Given the description of an element on the screen output the (x, y) to click on. 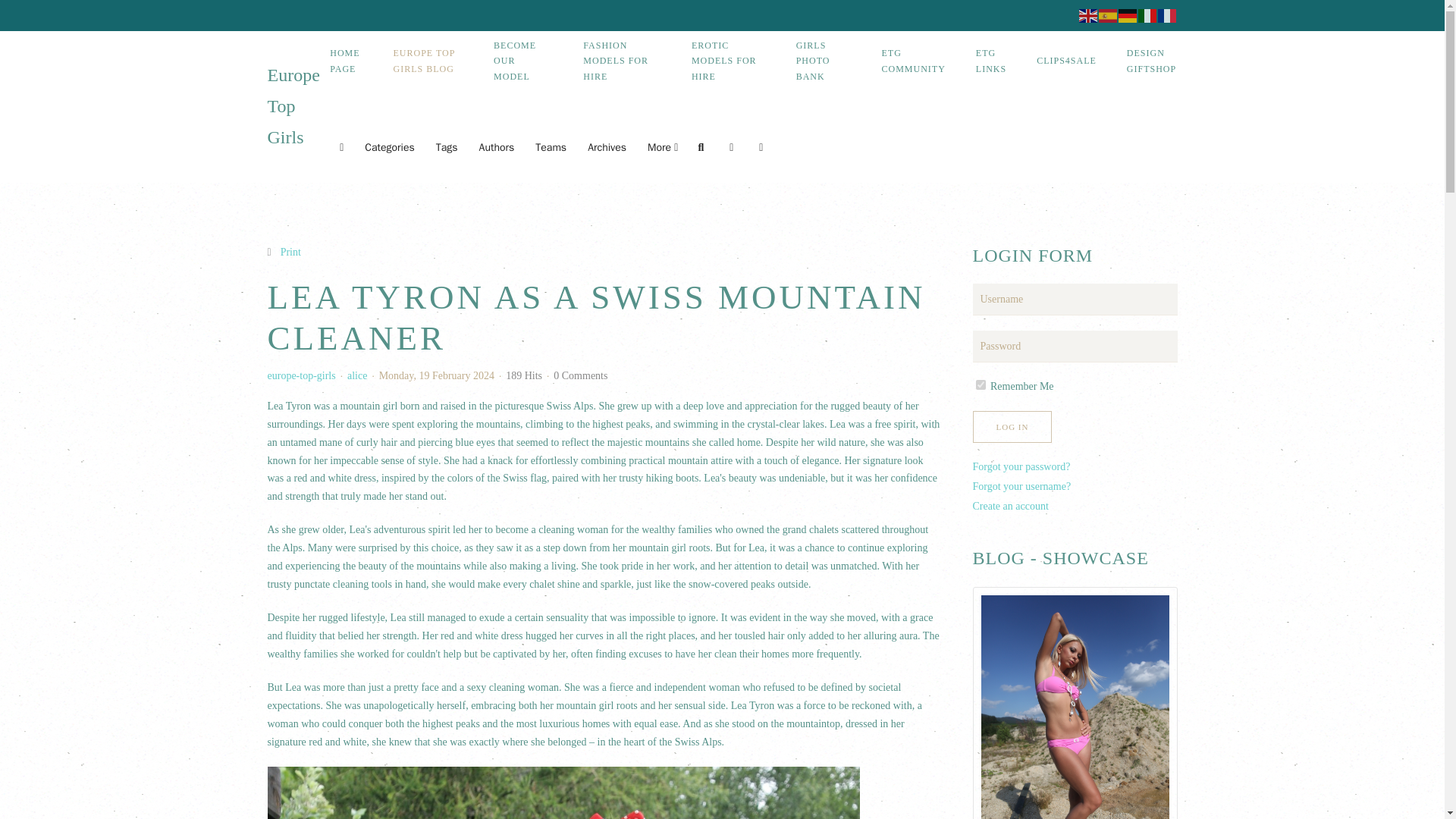
Italiano (1147, 14)
Archives (607, 147)
EUROPE TOP GIRLS BLOG (428, 61)
Teams (550, 147)
Categories (389, 147)
Archives (607, 147)
CLIPS4SALE (1066, 61)
More (662, 147)
yes (980, 384)
Authors (496, 147)
Deutsch (1127, 14)
Tags (446, 147)
EROTIC MODELS FOR HIRE (728, 61)
ETG COMMUNITY (912, 61)
Tags (446, 147)
